Given the description of an element on the screen output the (x, y) to click on. 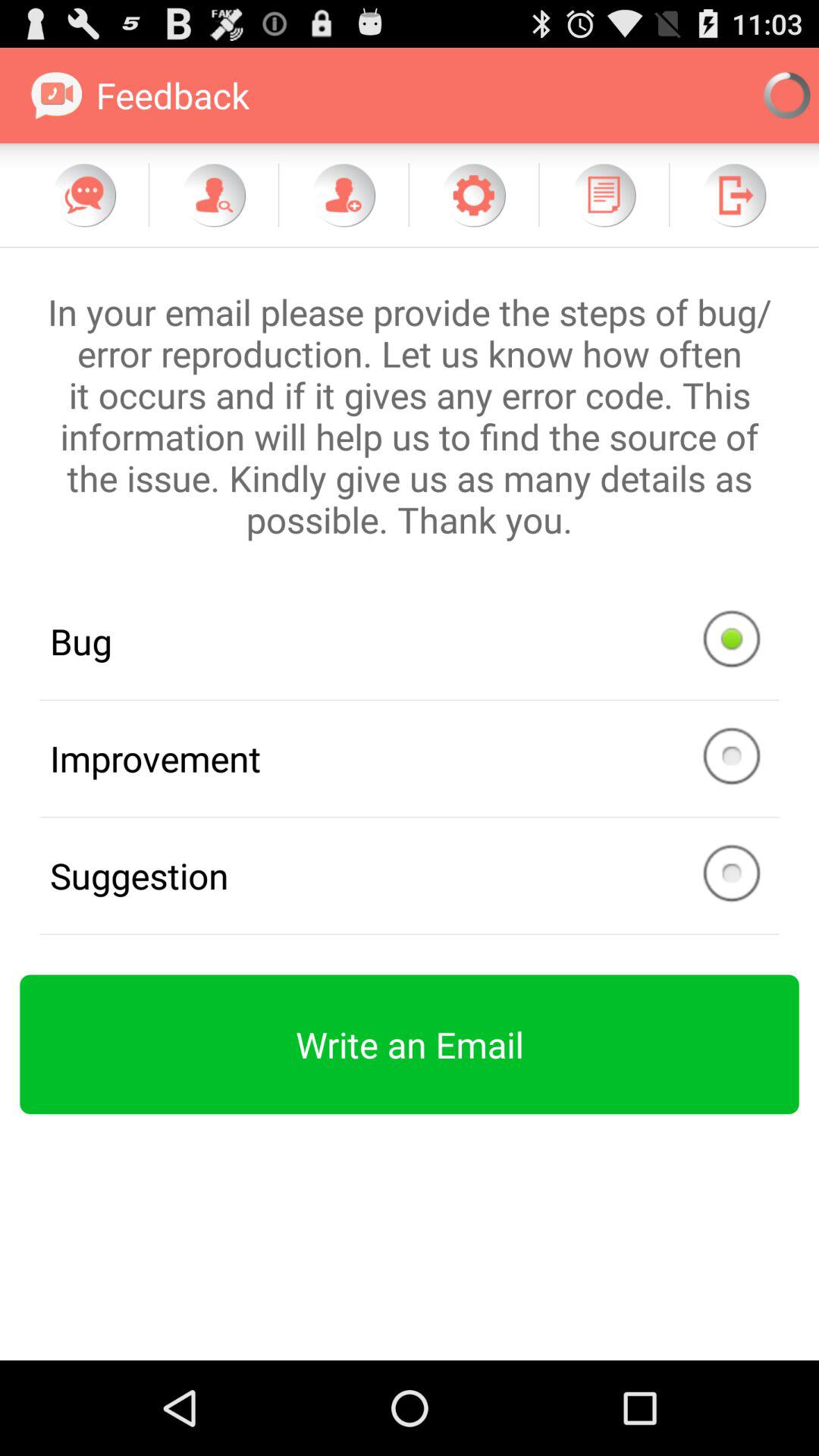
press improvement (409, 758)
